Given the description of an element on the screen output the (x, y) to click on. 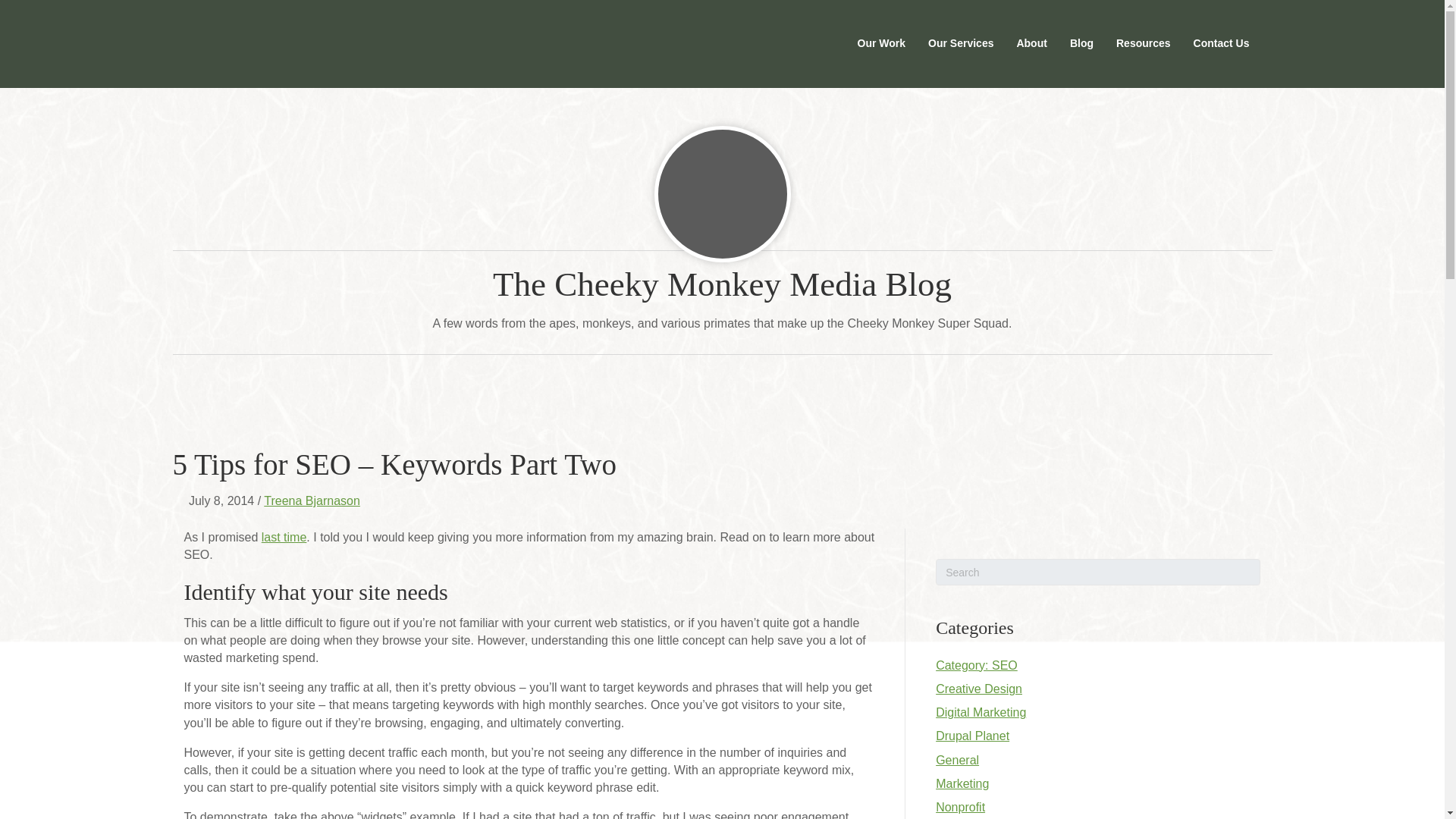
Contact Us (1221, 44)
Category: SEO (976, 665)
Creative Design (979, 688)
Resources (1143, 44)
General (957, 759)
Treena Bjarnason (311, 500)
last time (284, 536)
Type and press Enter to search. (1098, 571)
Drupal Planet (972, 735)
About (1031, 44)
